Given the description of an element on the screen output the (x, y) to click on. 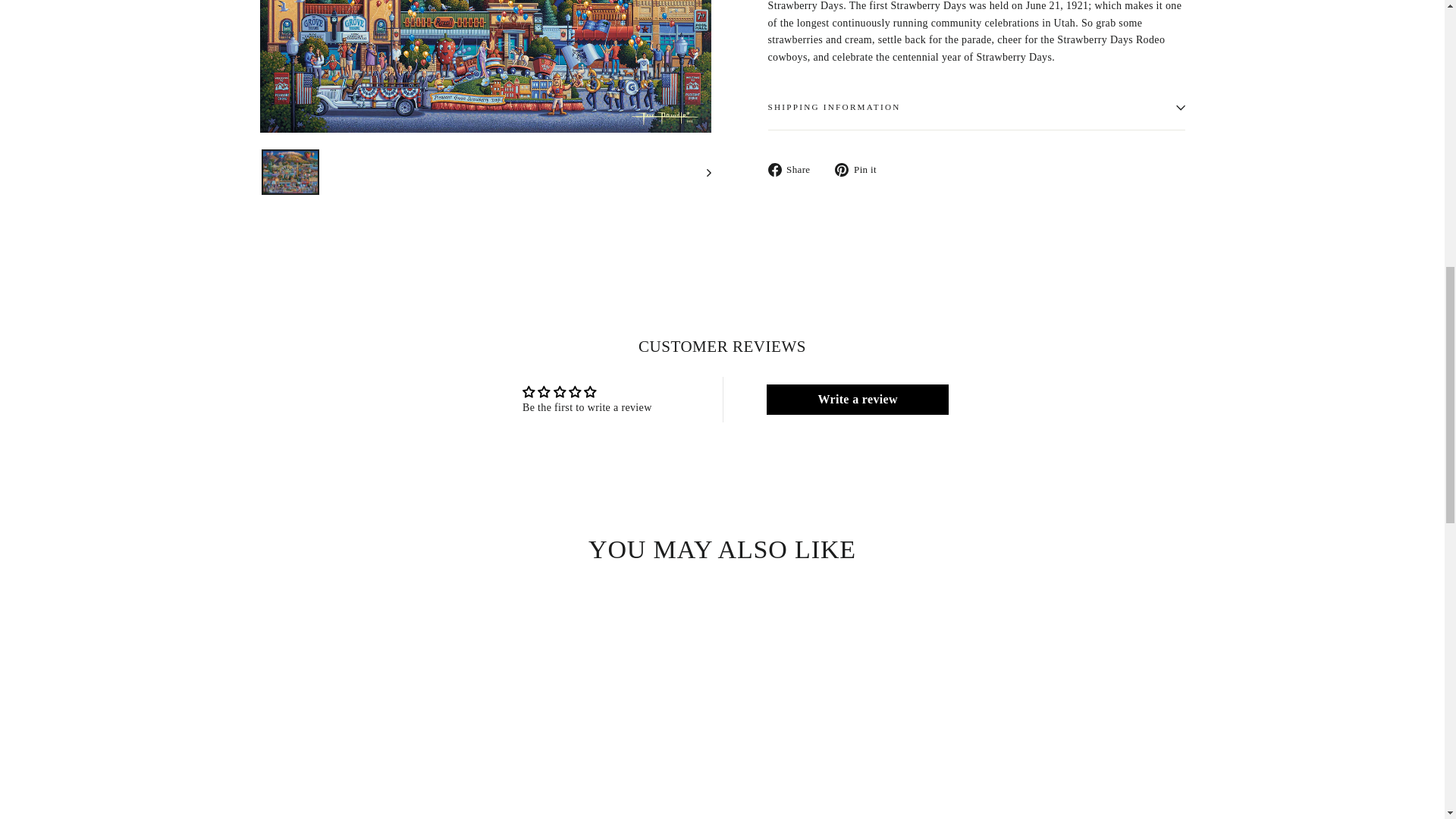
Pin on Pinterest (861, 169)
Share on Facebook (794, 169)
SHIPPING INFORMATION (976, 107)
